Given the description of an element on the screen output the (x, y) to click on. 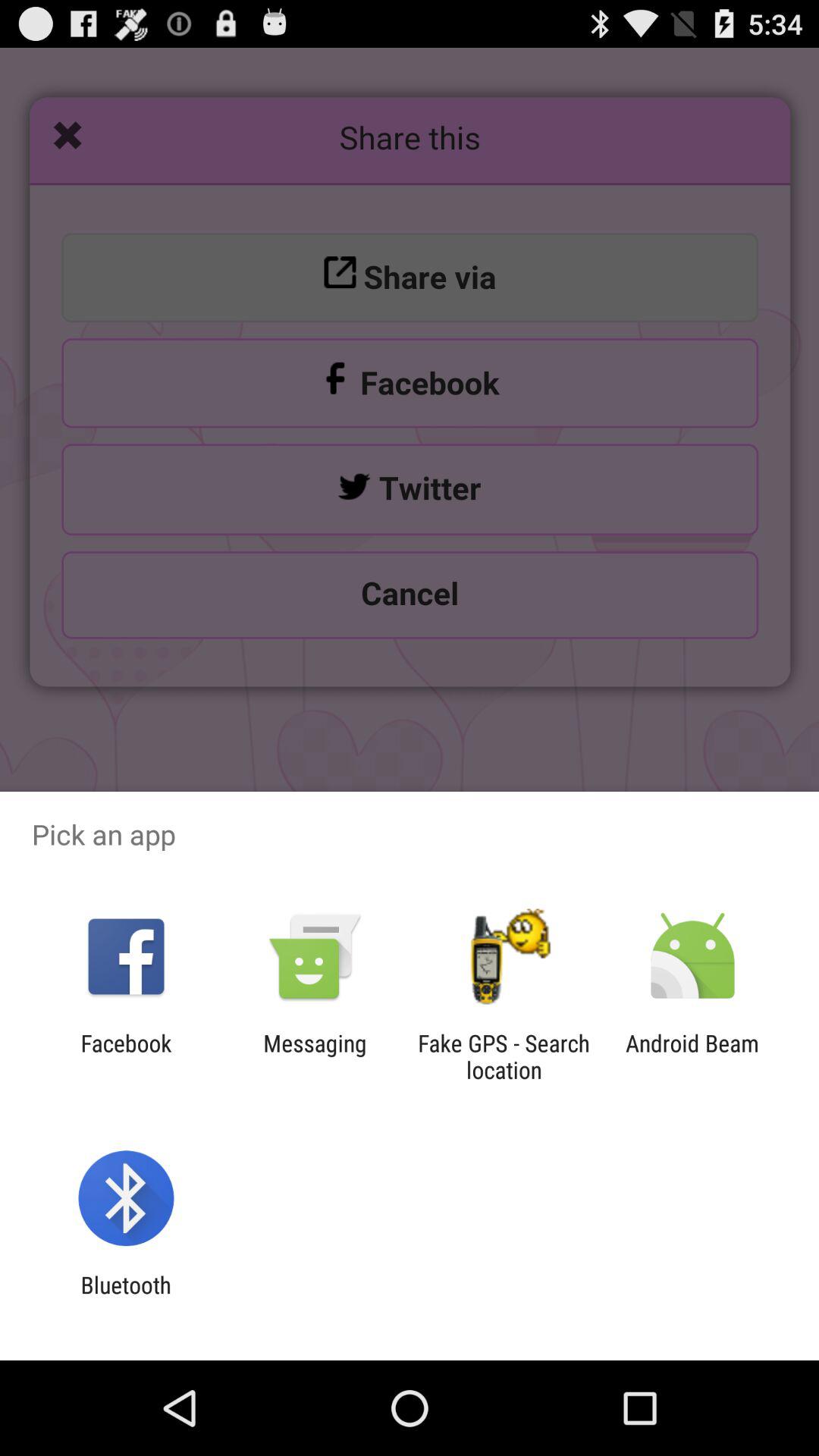
flip to messaging icon (314, 1056)
